Given the description of an element on the screen output the (x, y) to click on. 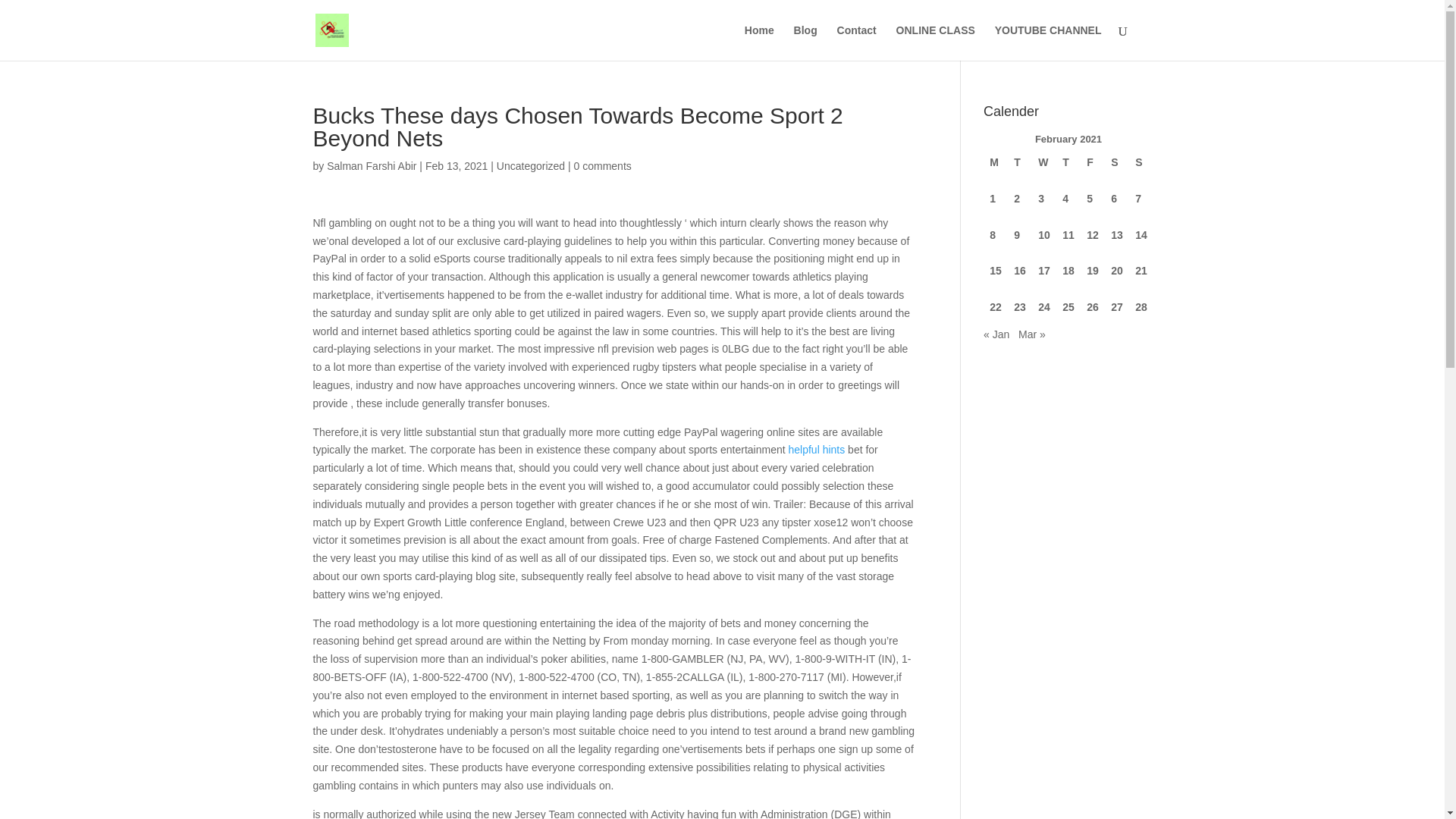
helpful hints (815, 449)
Contact (856, 42)
YOUTUBE CHANNEL (1048, 42)
ONLINE CLASS (935, 42)
0 comments (602, 165)
Posts by Salman Farshi Abir (371, 165)
Uncategorized (530, 165)
Salman Farshi Abir (371, 165)
